Given the description of an element on the screen output the (x, y) to click on. 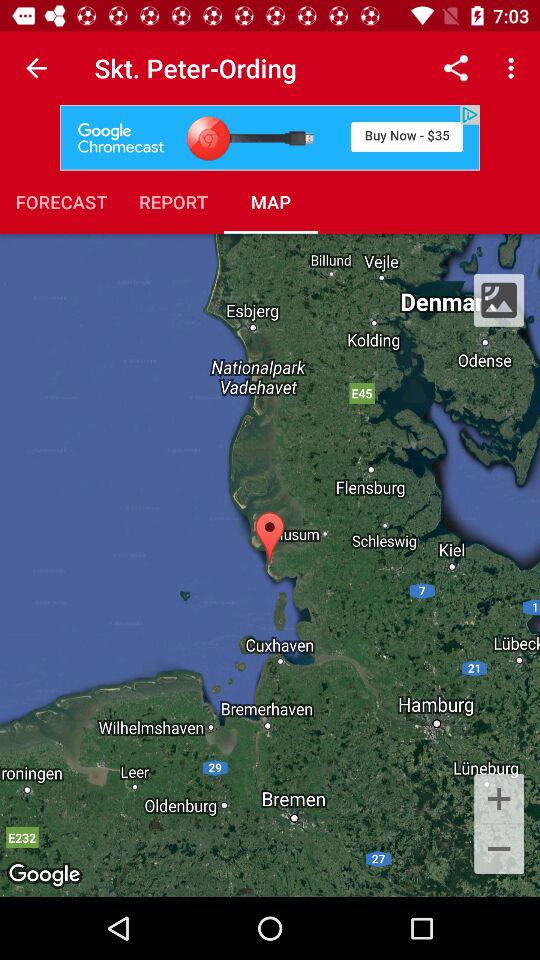
view advertisement (270, 137)
